Given the description of an element on the screen output the (x, y) to click on. 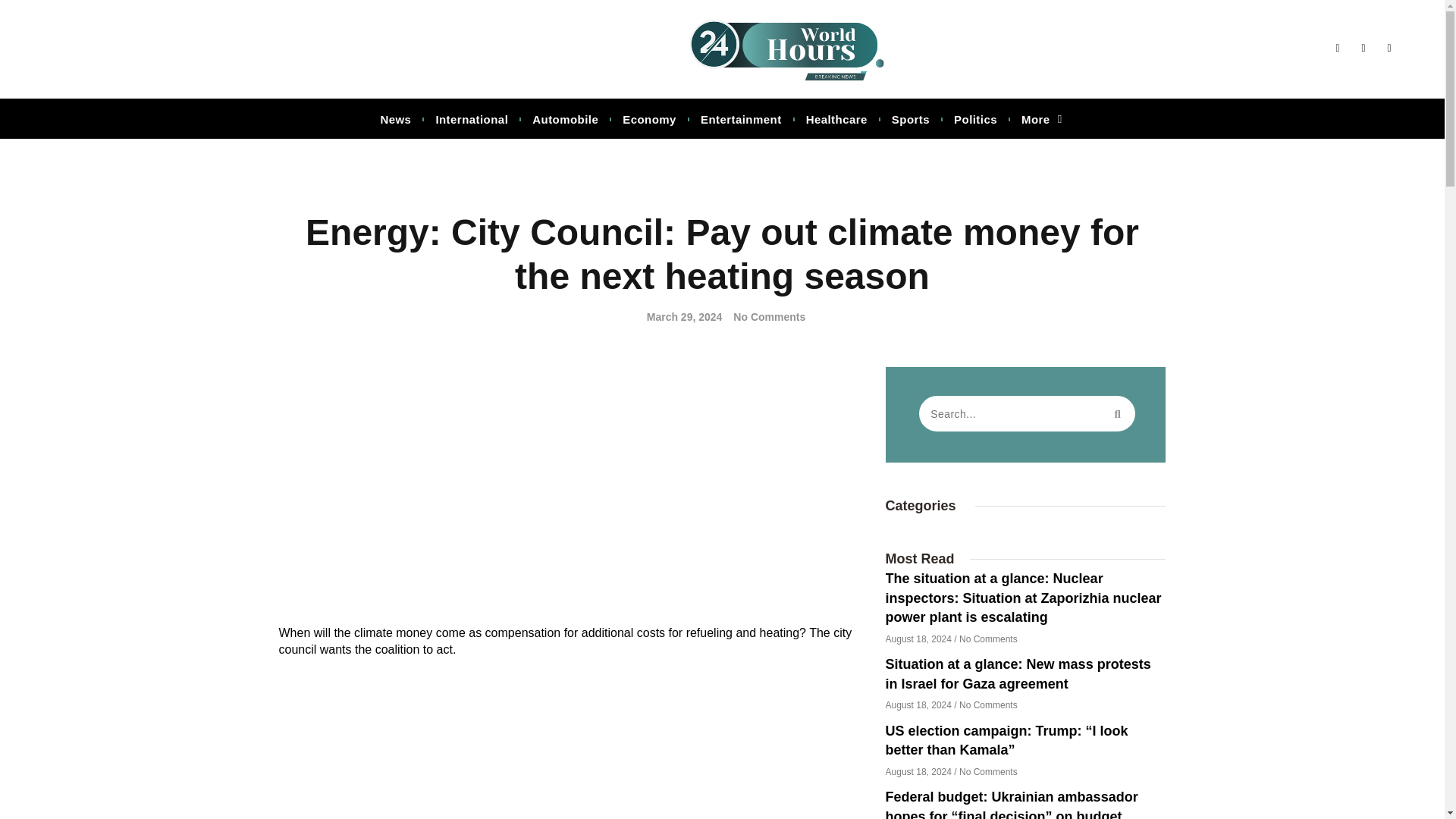
Entertainment (741, 119)
More (1041, 119)
International (471, 119)
Automobile (564, 119)
Economy (649, 119)
Advertisement (571, 495)
Healthcare (836, 119)
Advertisement (571, 750)
Sports (910, 119)
Politics (975, 119)
